Given the description of an element on the screen output the (x, y) to click on. 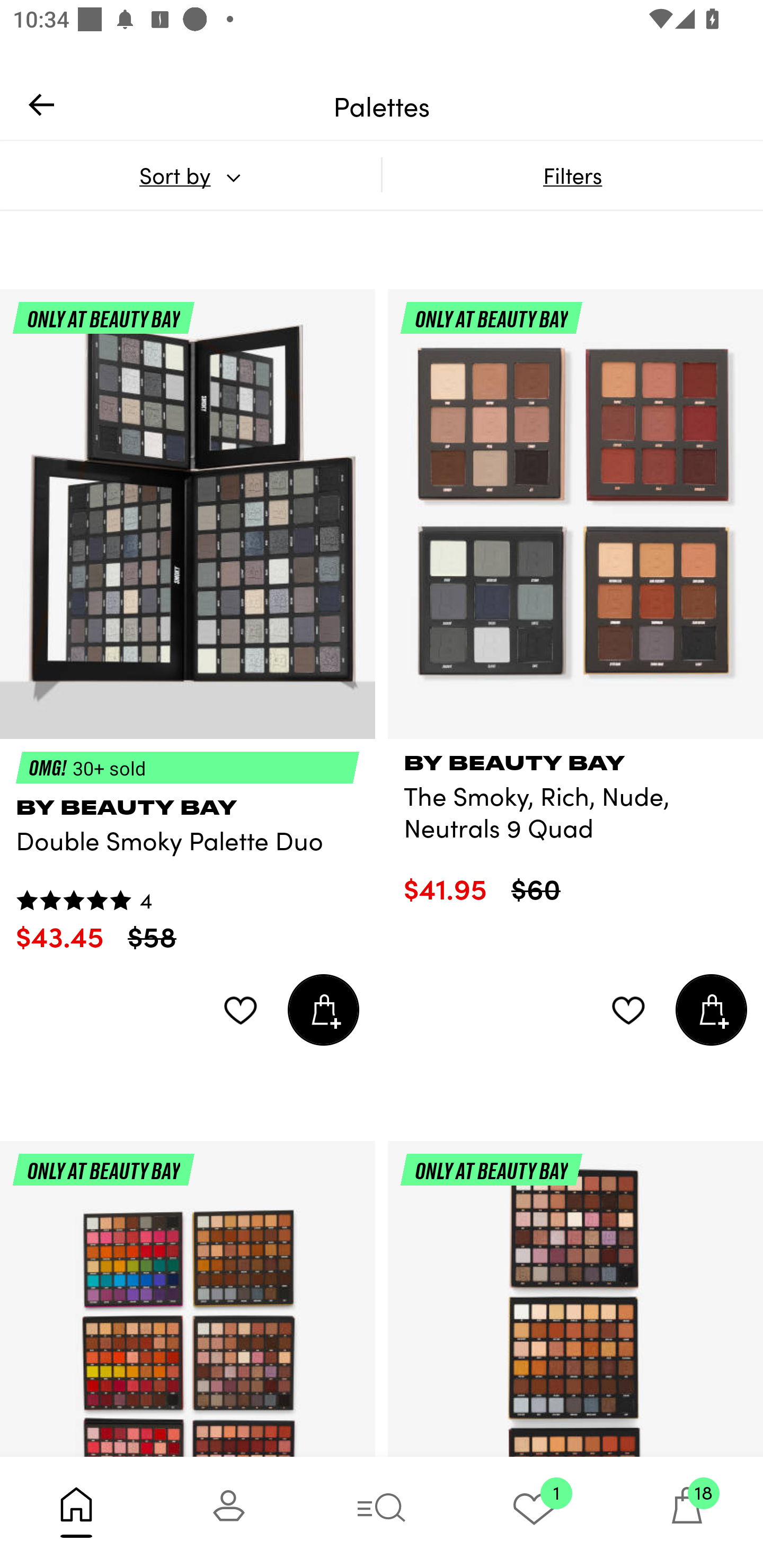
Sort by (190, 174)
Filters (572, 174)
1 (533, 1512)
18 (686, 1512)
